Given the description of an element on the screen output the (x, y) to click on. 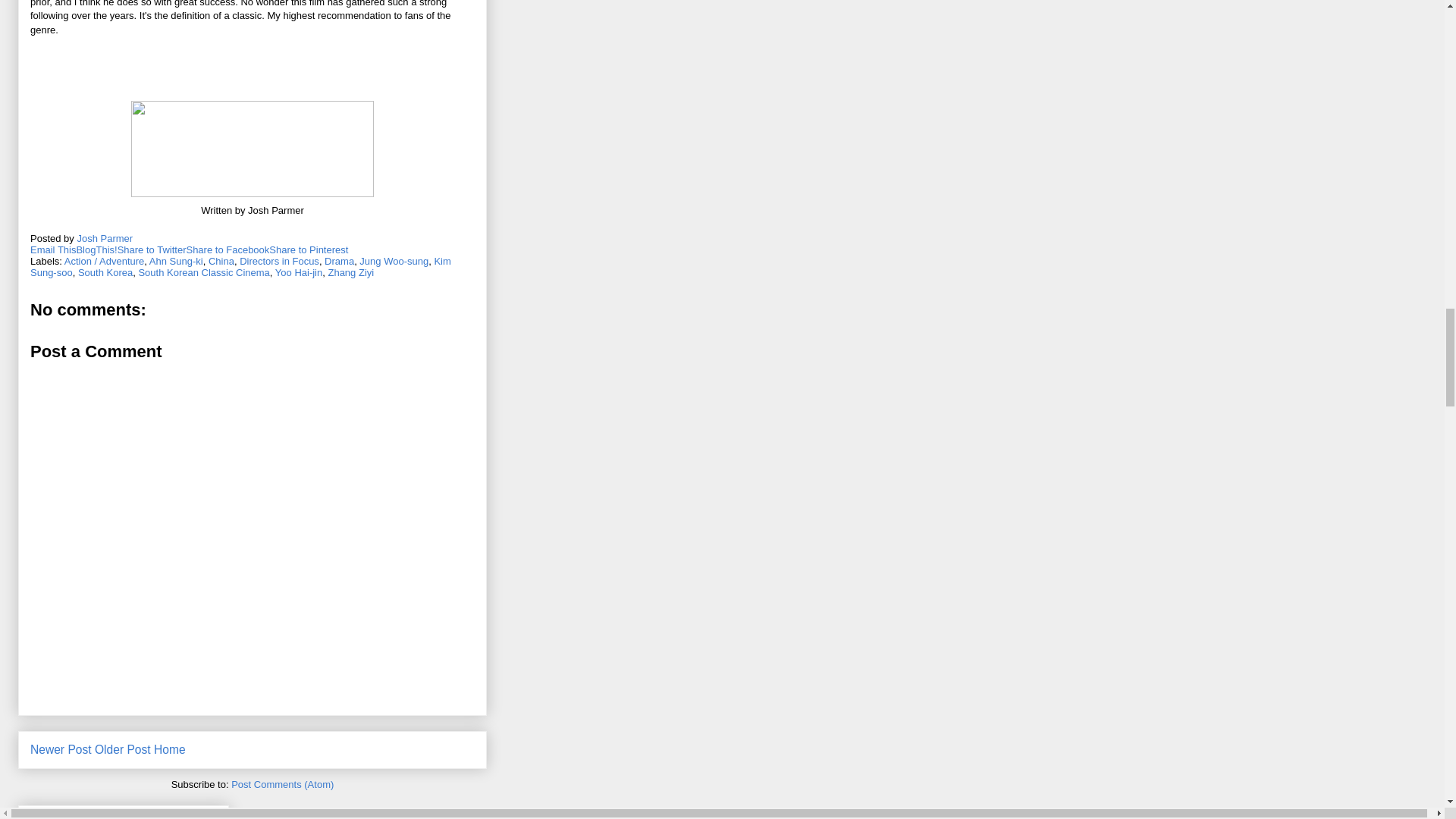
Share to Facebook (227, 249)
Older Post (122, 748)
Newer Post (60, 748)
Josh Parmer (104, 238)
Share to Pinterest (308, 249)
Jung Woo-sung (393, 260)
Directors in Focus (279, 260)
Share to Pinterest (308, 249)
Share to Facebook (227, 249)
Zhang Ziyi (350, 272)
Newer Post (60, 748)
South Korea (105, 272)
China (221, 260)
Home (170, 748)
Kim Sung-soo (240, 266)
